Given the description of an element on the screen output the (x, y) to click on. 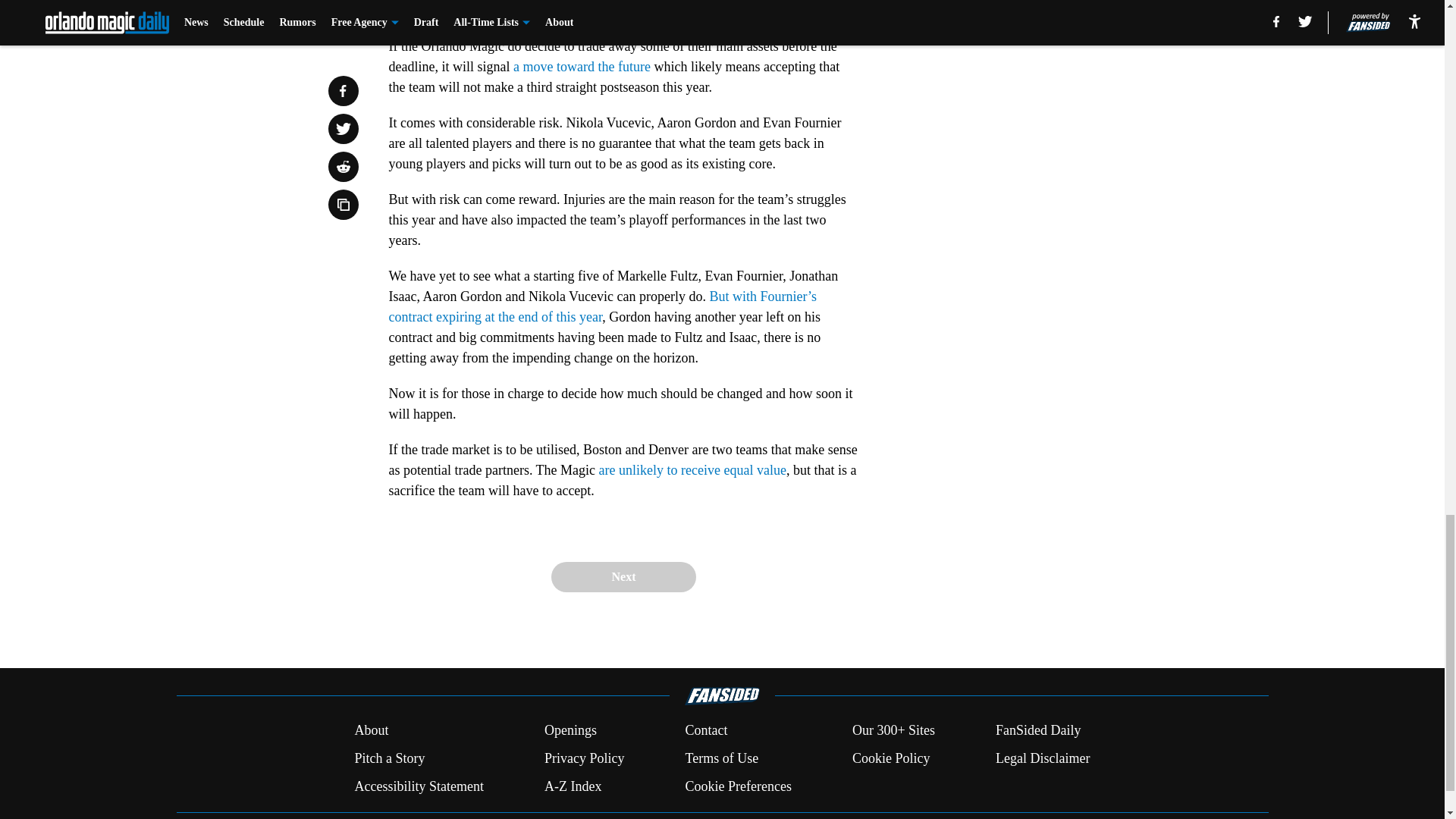
FanSided Daily (1038, 730)
are unlikely to receive equal value (692, 469)
Contact (705, 730)
Next (622, 576)
About (370, 730)
a move toward the future (581, 66)
Openings (570, 730)
